Given the description of an element on the screen output the (x, y) to click on. 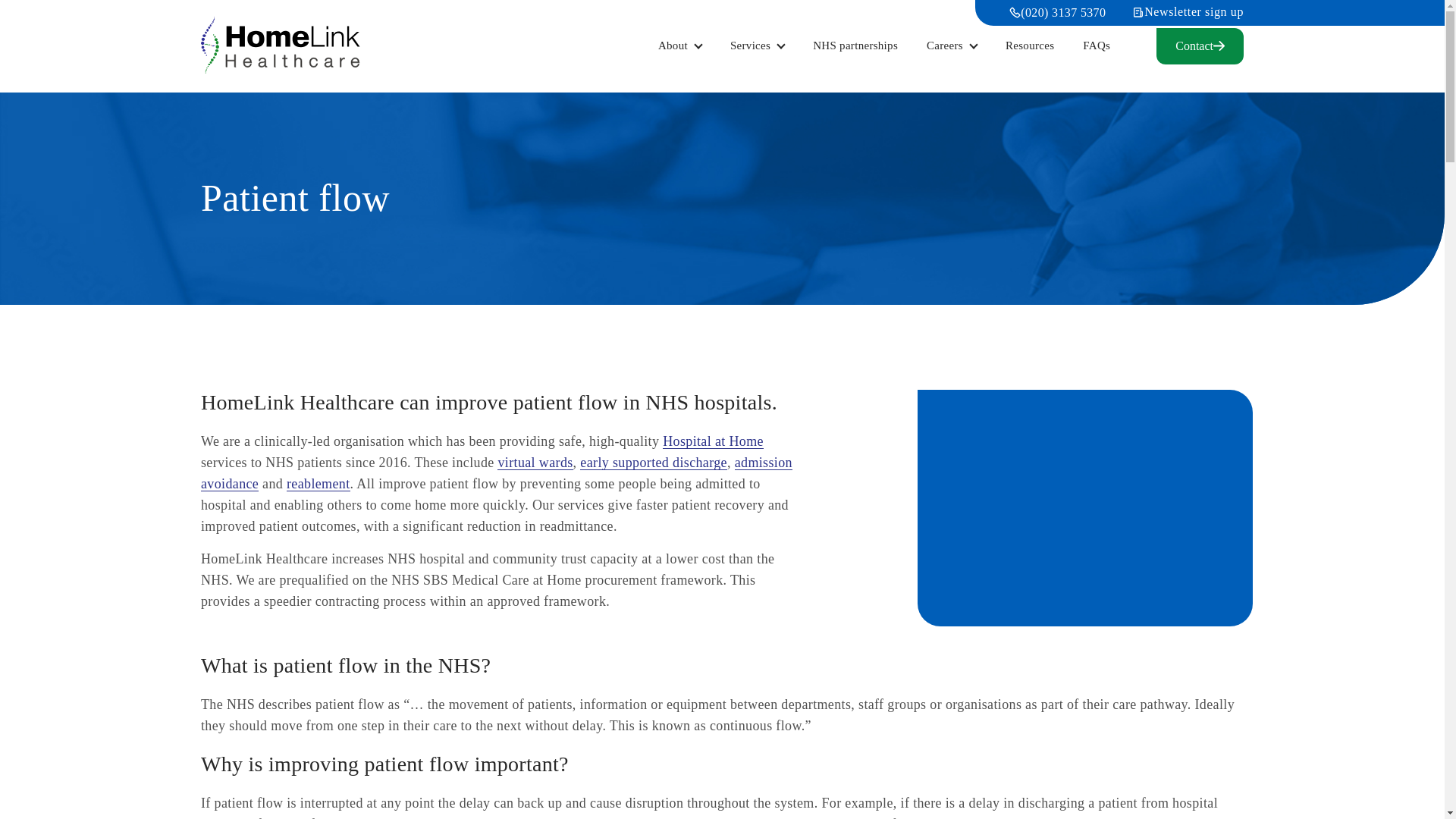
Hospital at Home (712, 441)
virtual wards (534, 462)
admission avoidance (496, 473)
Newsletter sign up (1187, 11)
Contact (1199, 45)
NHS partnerships (855, 45)
early supported discharge (652, 462)
reablement (318, 483)
